Given the description of an element on the screen output the (x, y) to click on. 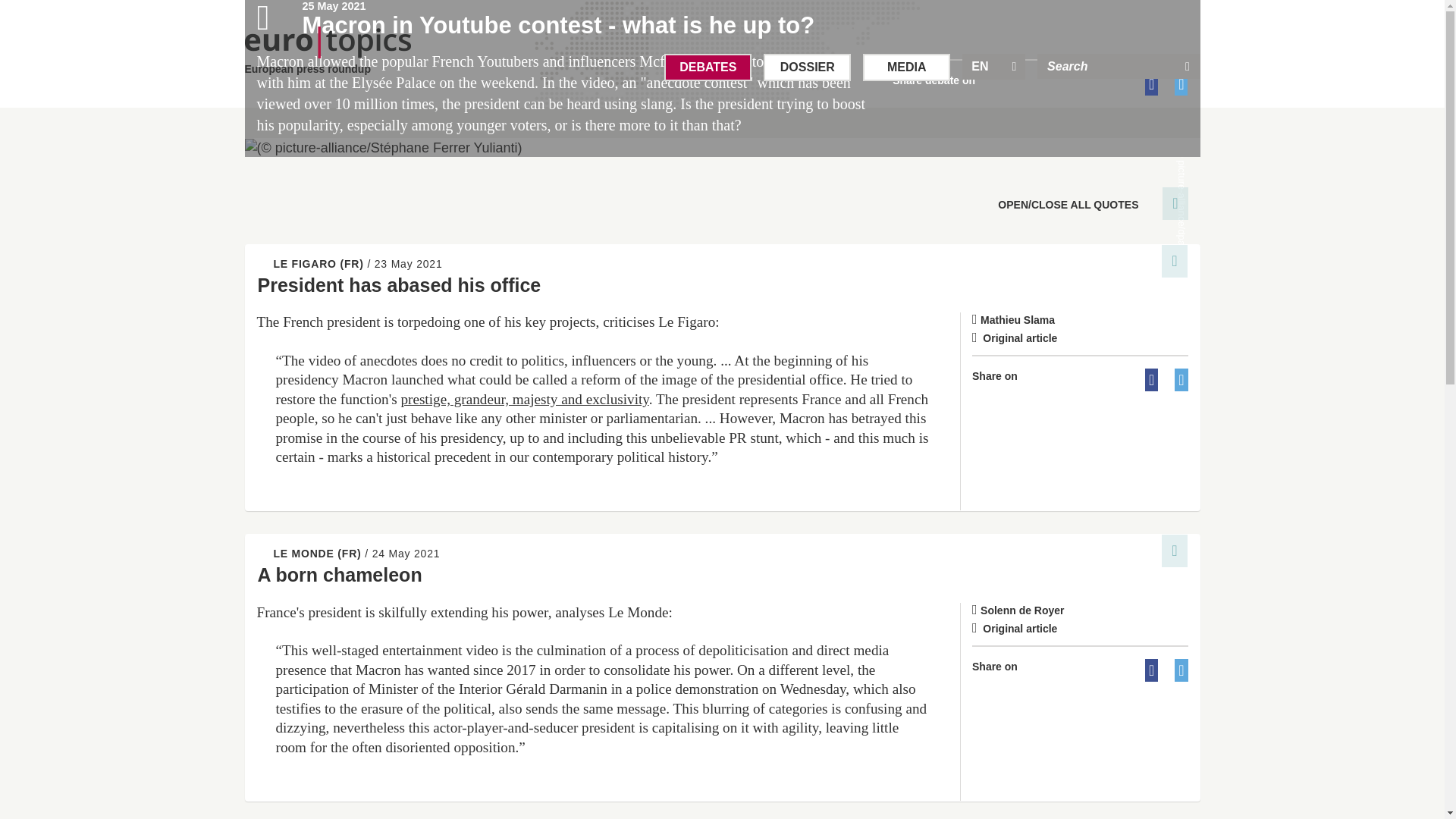
Homepage (327, 52)
Solenn de Royer (1080, 617)
Dossier (806, 67)
Media (906, 67)
European press roundup (327, 52)
DEBATES (707, 67)
MEDIA (906, 67)
Debates (707, 67)
DOSSIER (806, 67)
prestige, grandeur, majesty and exclusivity (523, 399)
Mathieu Slama (1080, 328)
